Given the description of an element on the screen output the (x, y) to click on. 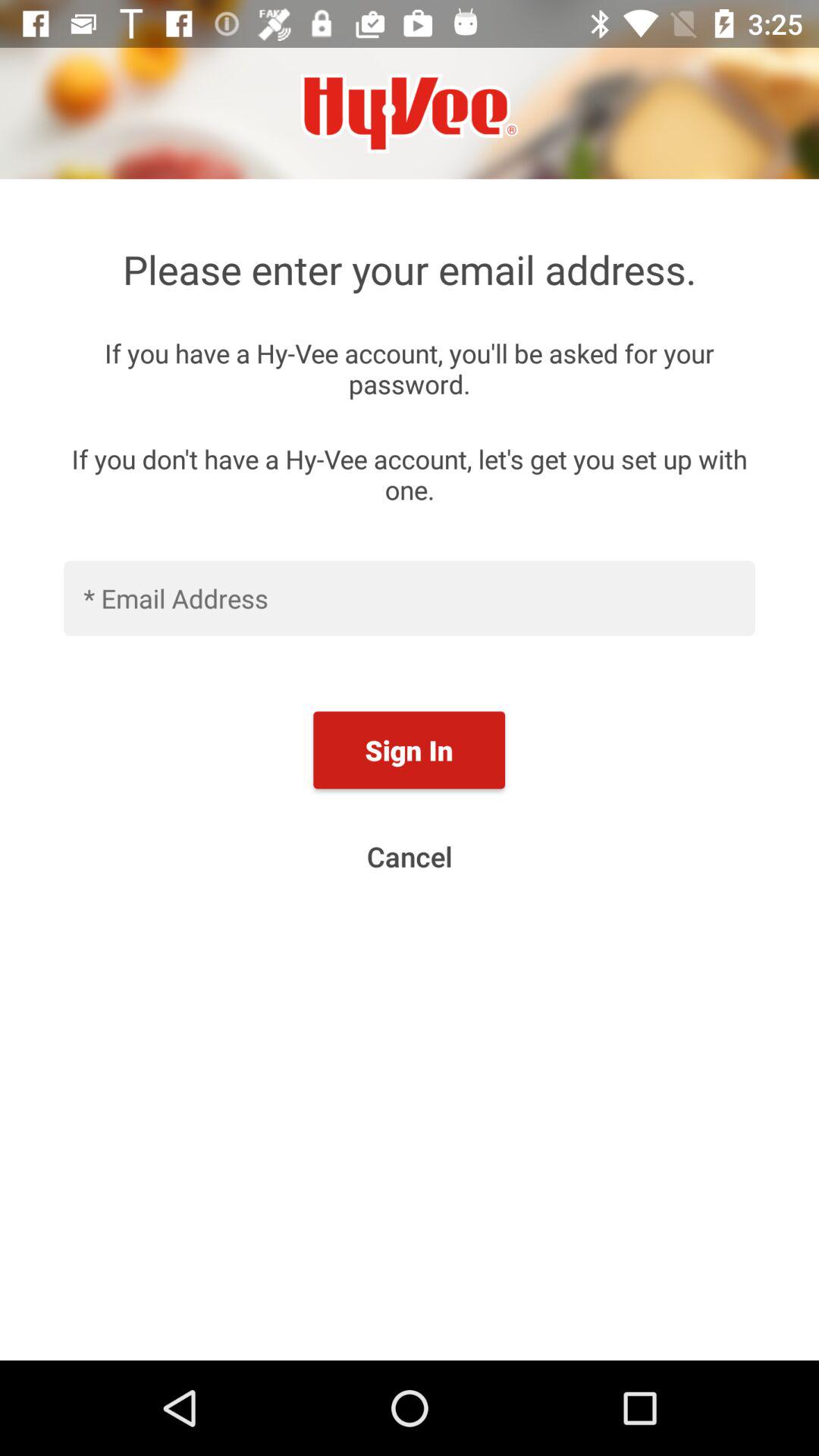
mail textbox (409, 597)
